Given the description of an element on the screen output the (x, y) to click on. 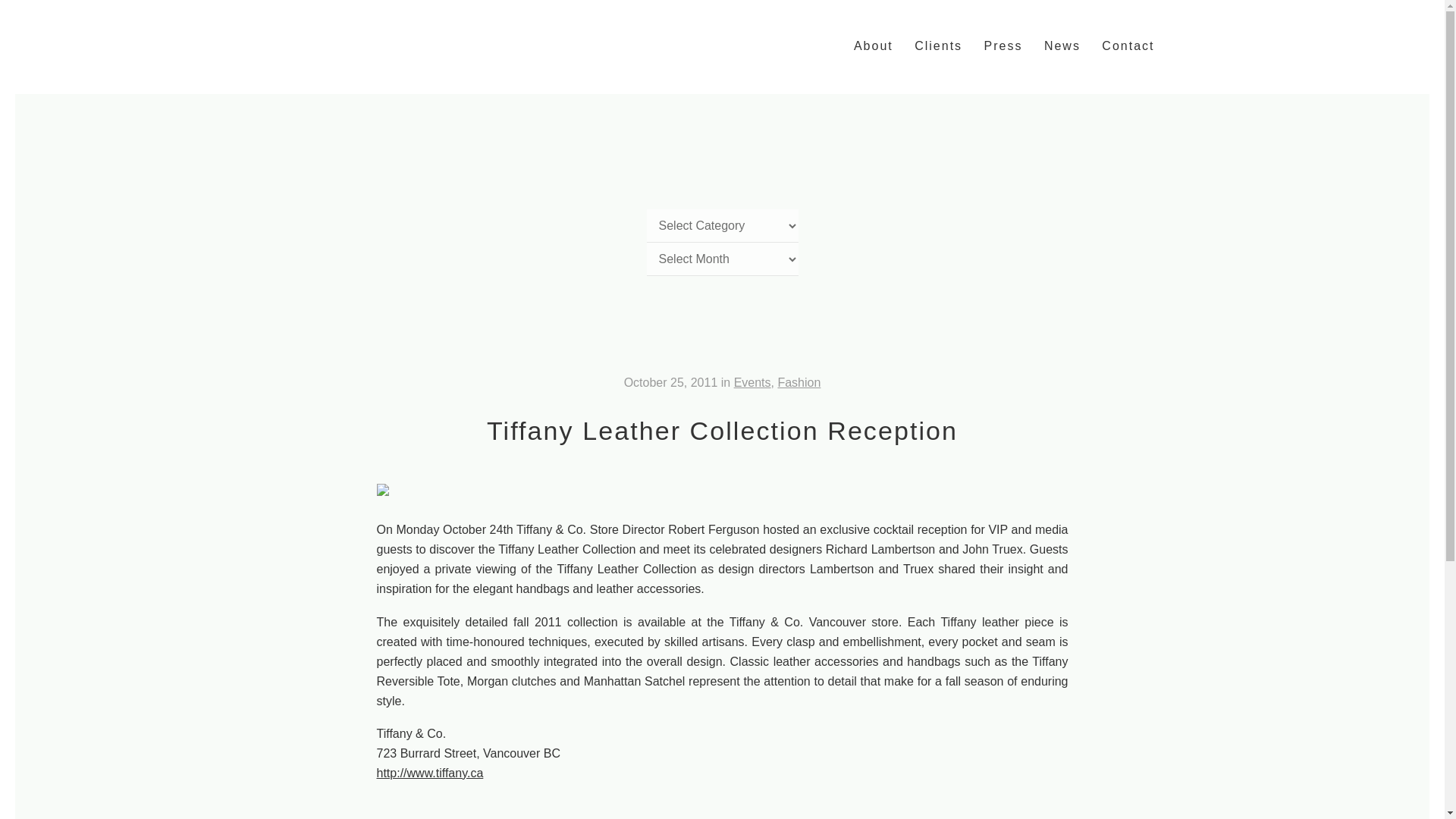
Events (752, 382)
Contact (1128, 46)
Clients (938, 46)
Fashion (799, 382)
Hawksworth Communications (392, 43)
News (1061, 46)
Press (1003, 46)
About (873, 46)
